Given the description of an element on the screen output the (x, y) to click on. 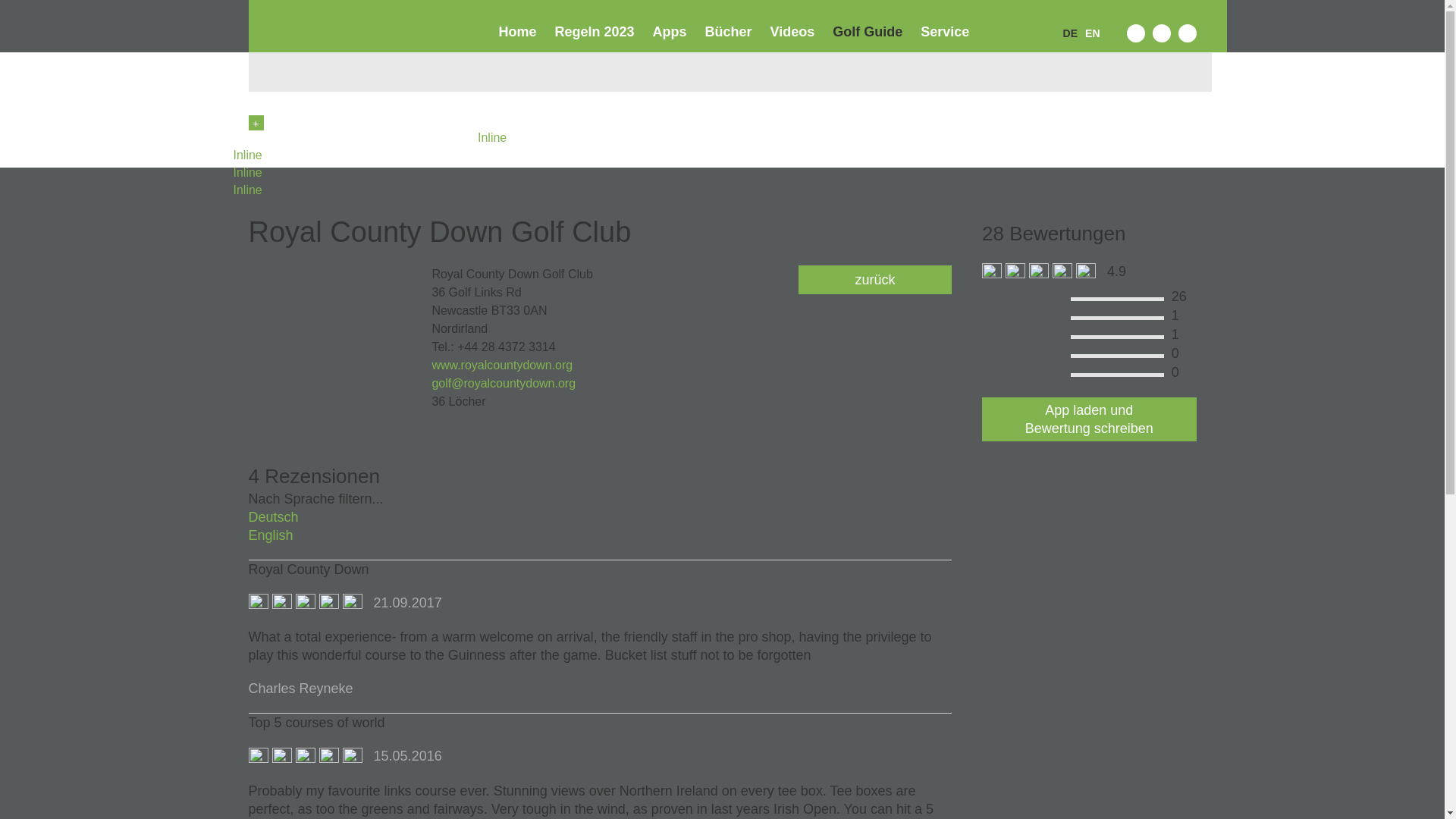
Apps (669, 31)
Videos (792, 31)
Home (518, 31)
Regeln 2023 (594, 31)
Service (944, 31)
Golf Guide (867, 31)
